Given the description of an element on the screen output the (x, y) to click on. 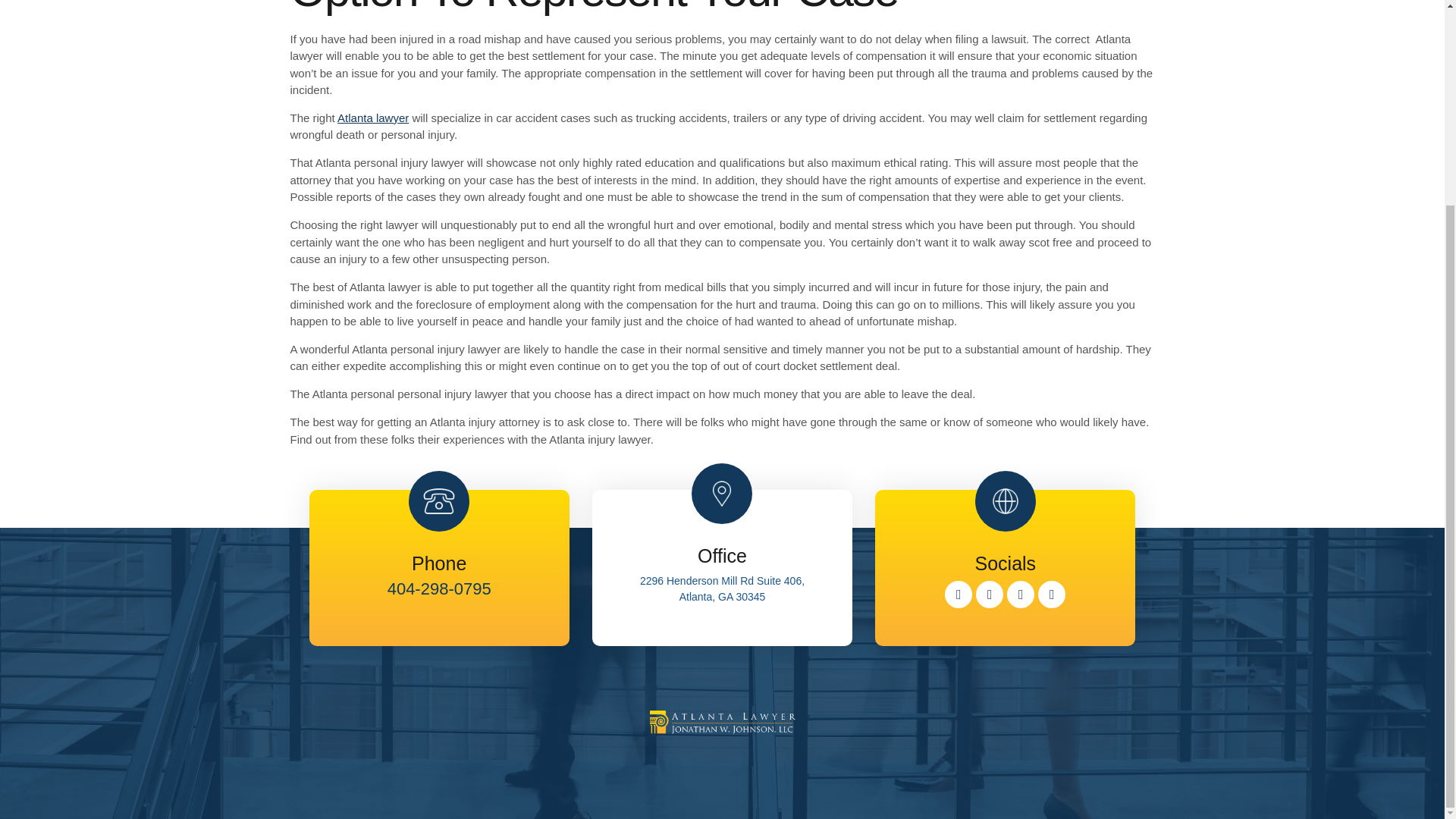
Atlanta lawyer (373, 117)
